Given the description of an element on the screen output the (x, y) to click on. 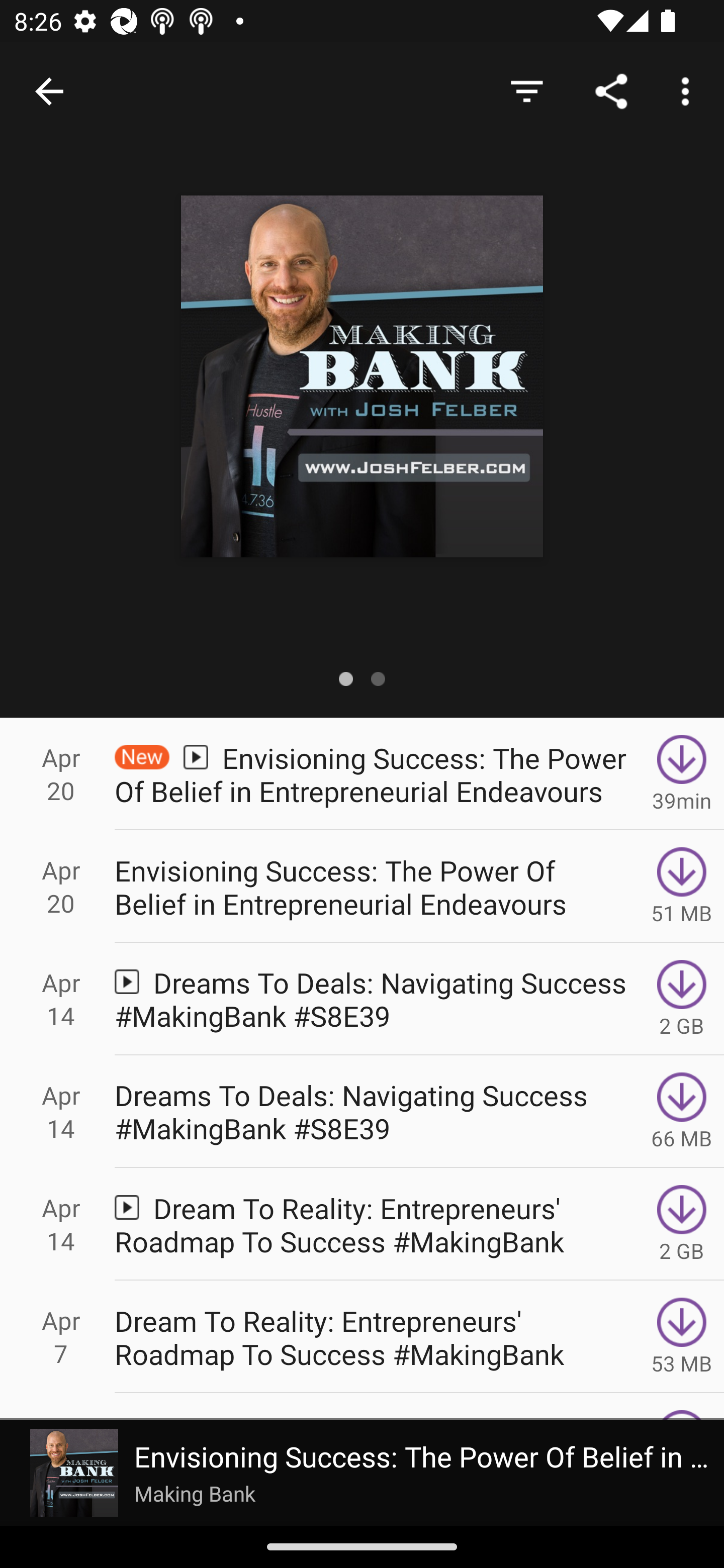
Navigate up (49, 91)
Hide Episodes (526, 90)
Share Link (611, 90)
More options (688, 90)
Download 39min (681, 773)
Download 51 MB (681, 885)
Download 2 GB (681, 998)
Download 66 MB (681, 1111)
Download 2 GB (681, 1224)
Download 53 MB (681, 1336)
